Given the description of an element on the screen output the (x, y) to click on. 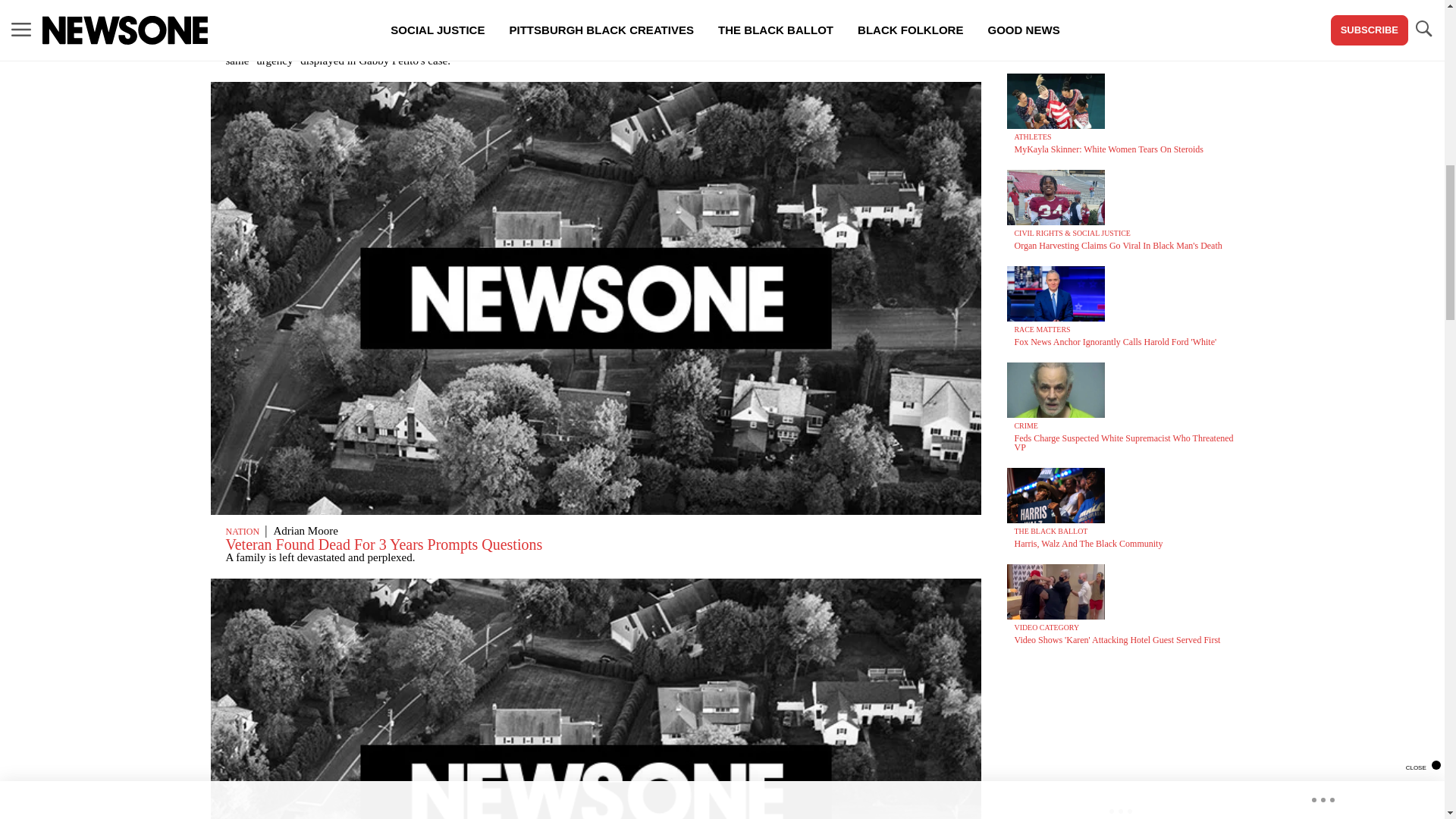
Veteran Found Dead For 3 Years Prompts Questions (384, 544)
NEWS (238, 23)
POLITICS (1030, 40)
Bruce C.T. Wright (306, 22)
ATHLETES (1032, 136)
NATION (242, 531)
Kyle Rittenhouse Deleted Anti-Trump Posts (1094, 52)
